Given the description of an element on the screen output the (x, y) to click on. 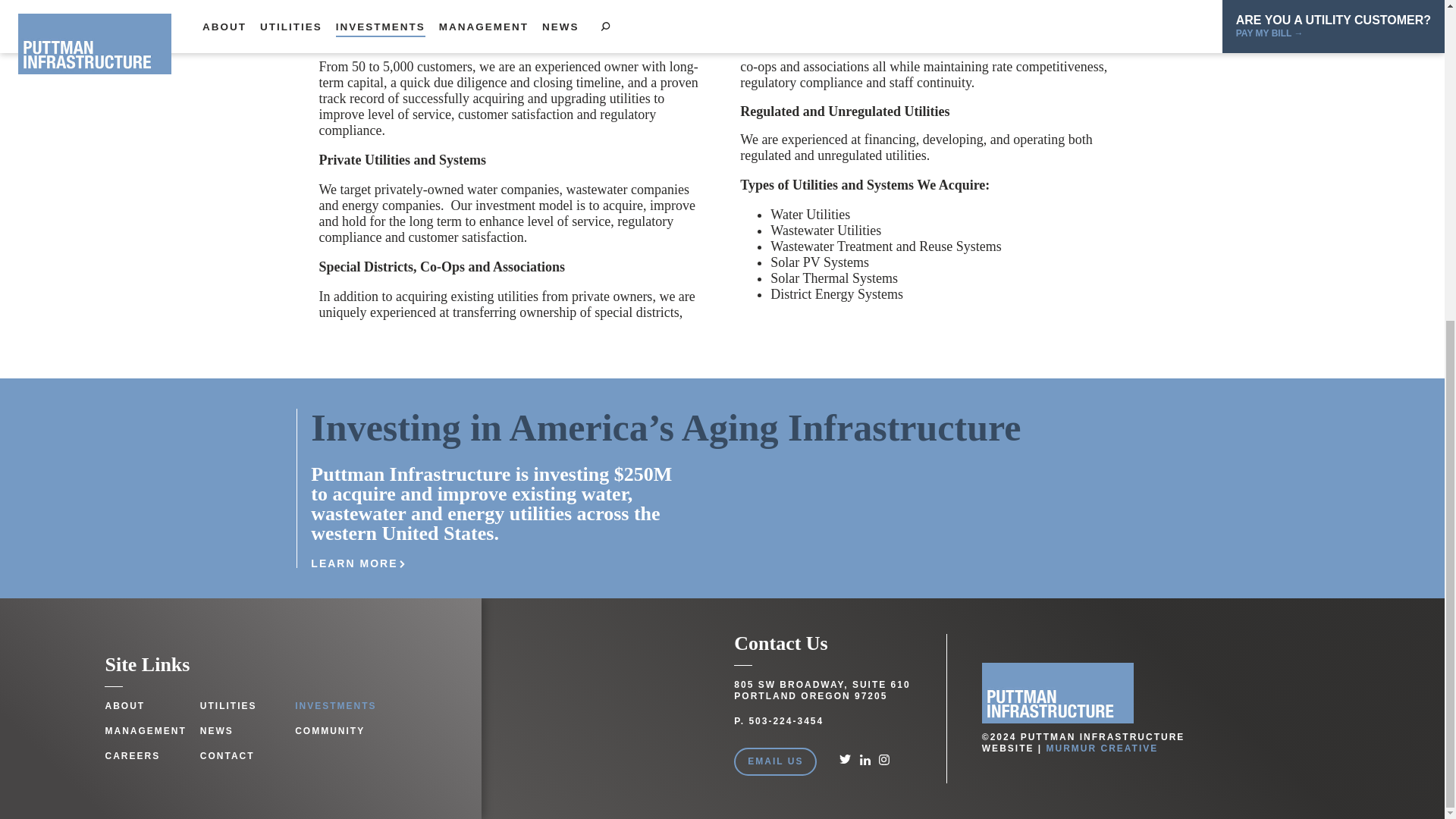
CONTACT (227, 756)
MANAGEMENT (145, 731)
CAREERS (132, 756)
MURMUR CREATIVE (1102, 748)
LEARN MORE (362, 563)
EMAIL US (774, 761)
COMMUNITY (330, 731)
INVESTMENTS (335, 706)
UTILITIES (228, 706)
ABOUT (124, 706)
NEWS (216, 731)
